Given the description of an element on the screen output the (x, y) to click on. 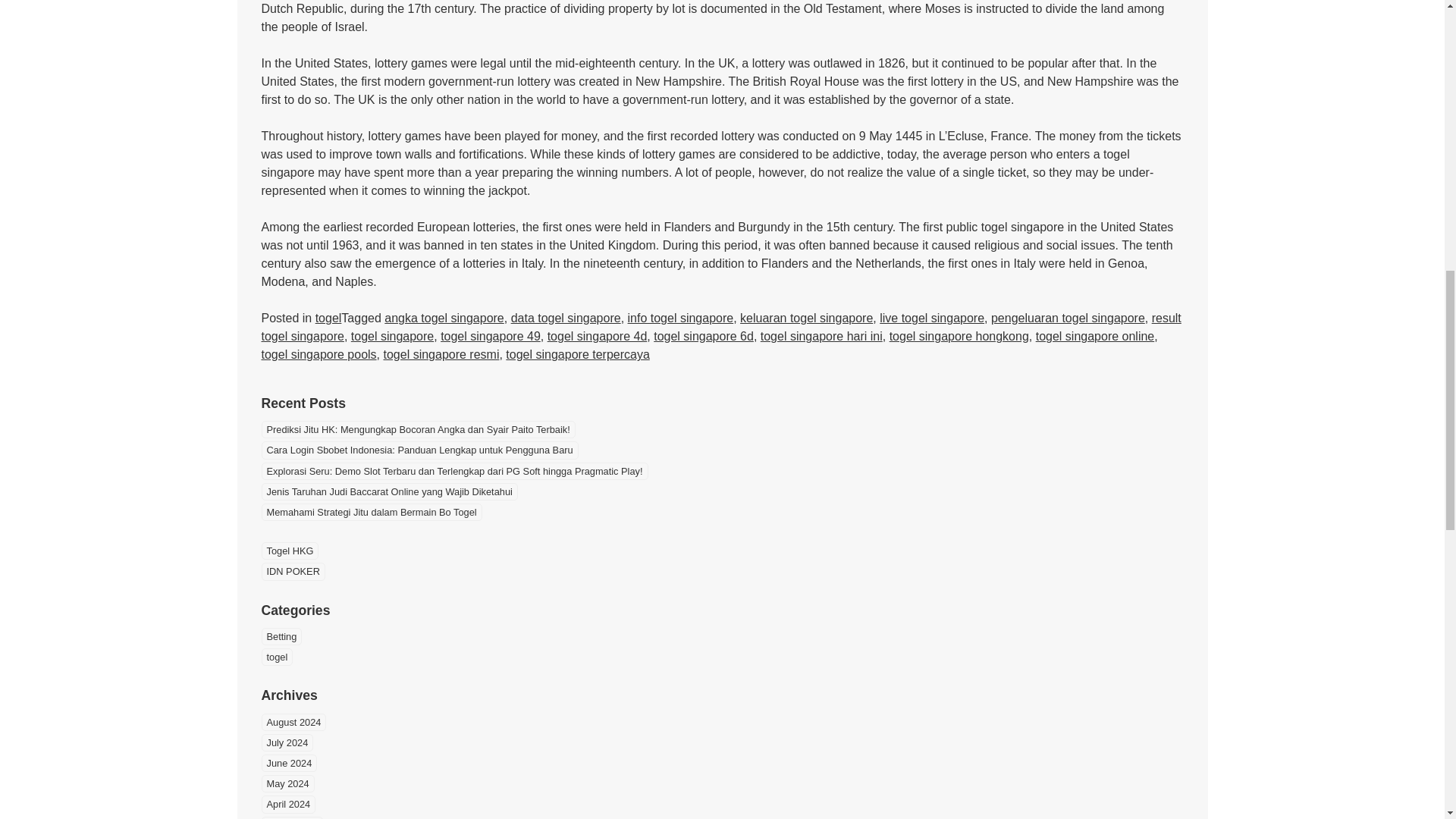
Togel HKG (289, 550)
angka togel singapore (443, 318)
togel singapore online (1094, 336)
togel singapore 4d (597, 336)
August 2024 (293, 722)
IDN POKER (292, 570)
pengeluaran togel singapore (1067, 318)
data togel singapore (566, 318)
